Given the description of an element on the screen output the (x, y) to click on. 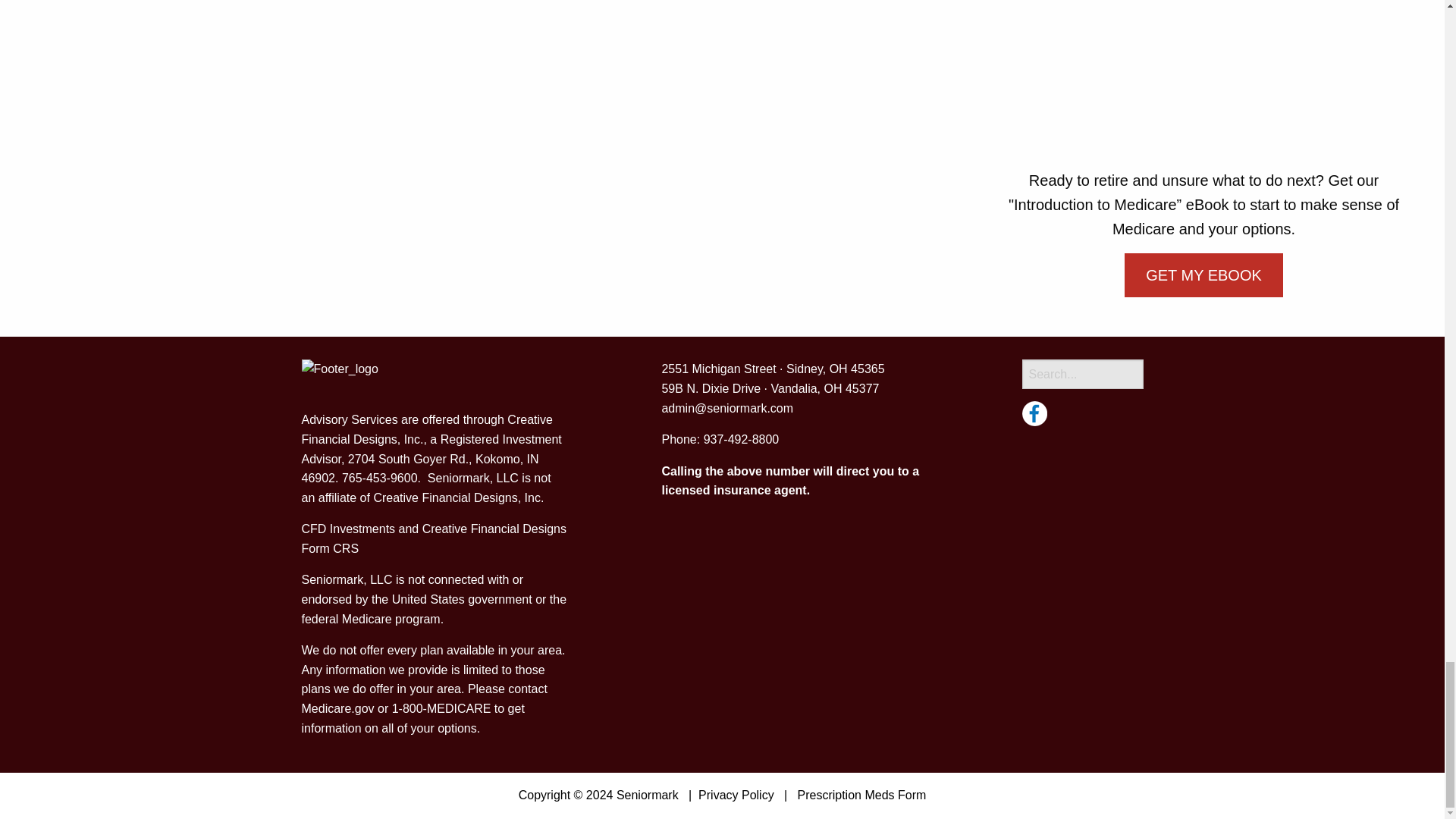
Search for: (1082, 374)
